Given the description of an element on the screen output the (x, y) to click on. 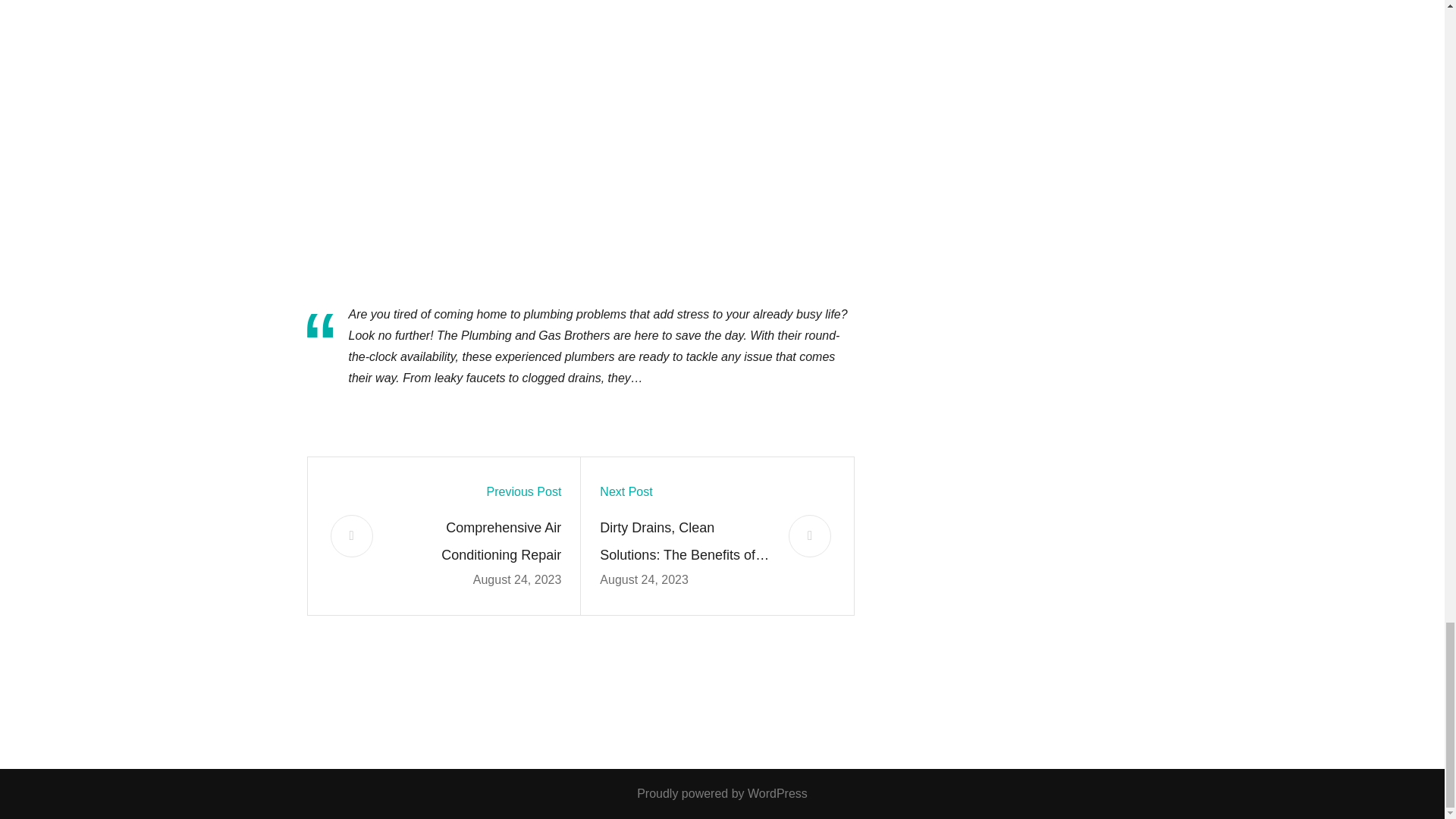
August 24, 2023 (643, 579)
Comprehensive Air Conditioning Repair Services in Orlando (475, 541)
August 24, 2023 (517, 579)
